Given the description of an element on the screen output the (x, y) to click on. 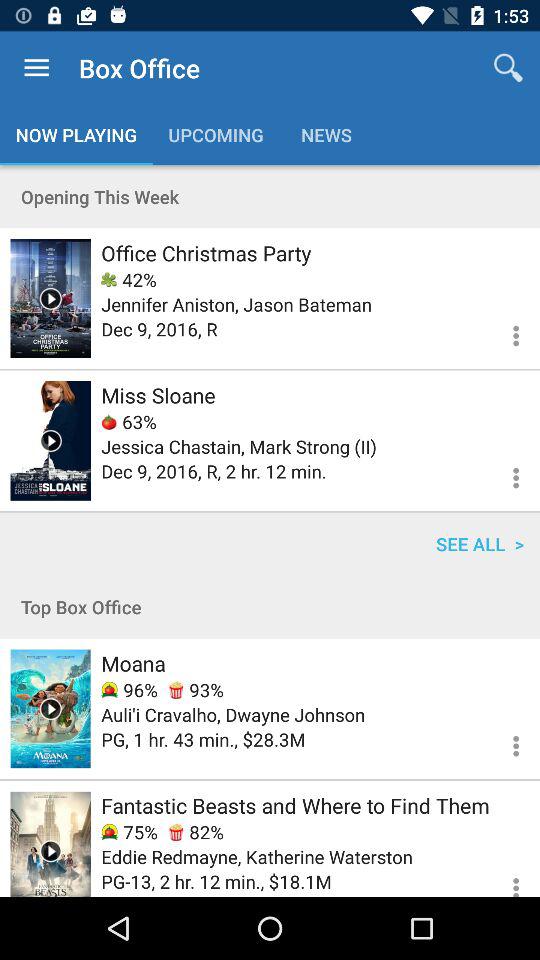
select the icon to the left of the 93% (129, 689)
